Given the description of an element on the screen output the (x, y) to click on. 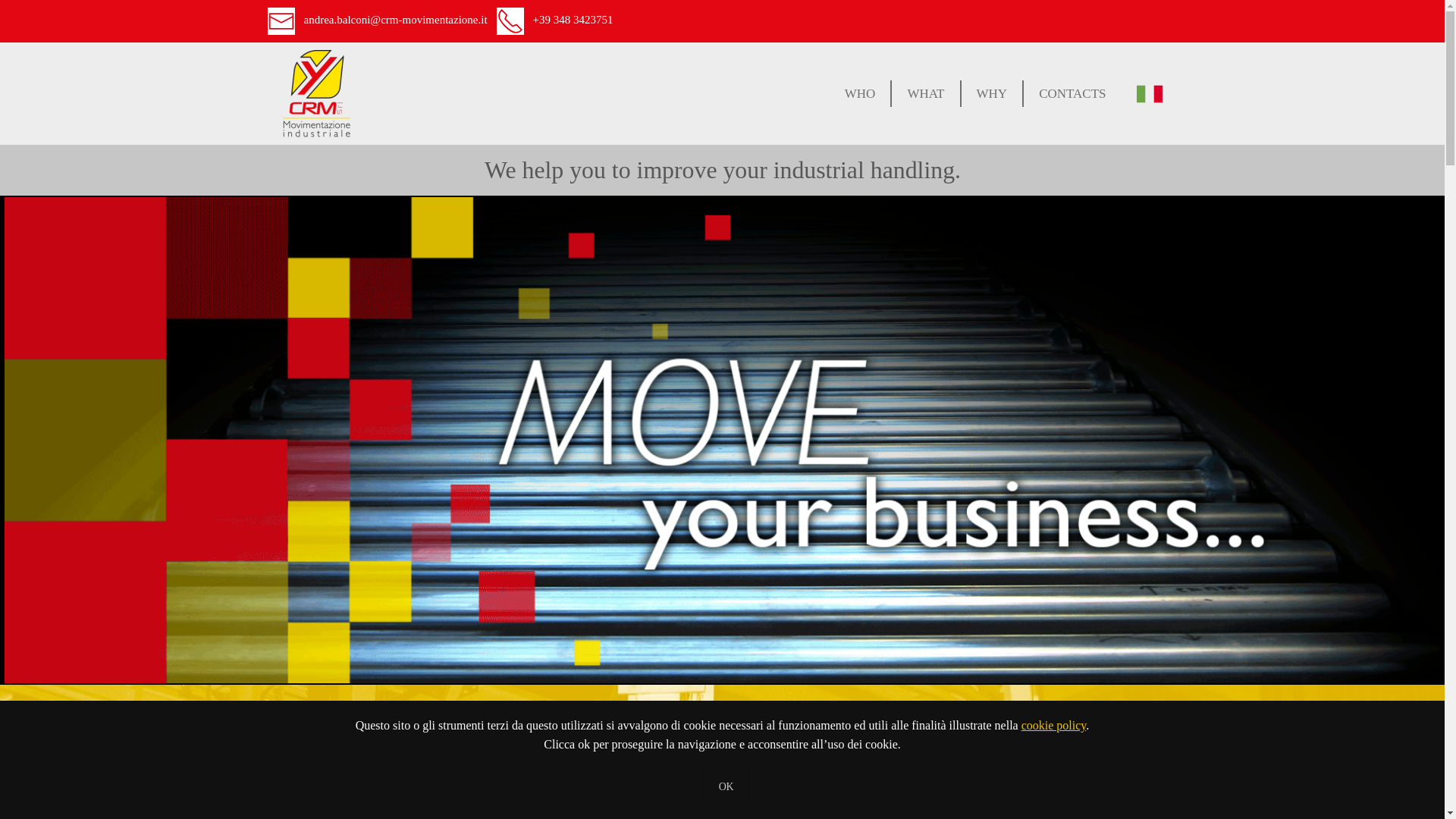
cookie policy (1054, 725)
WHAT (925, 93)
WHY (992, 93)
WHO (860, 93)
We help you to improve your industrial handling. (721, 169)
CONTACTS (1072, 93)
OK (726, 786)
